Given the description of an element on the screen output the (x, y) to click on. 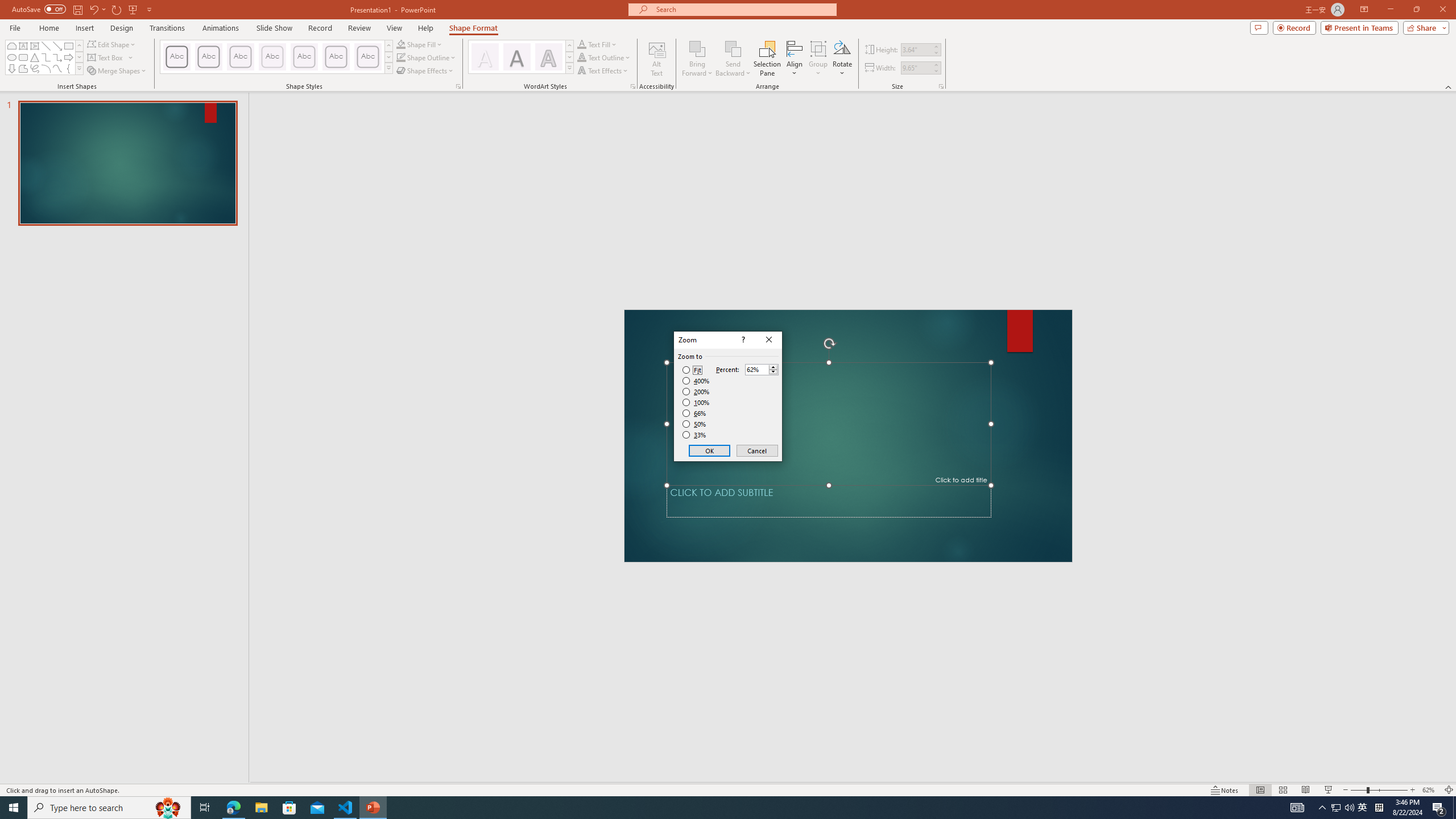
Selection Pane... (767, 58)
Merge Shapes (117, 69)
Edit Shape (112, 44)
Rotate (841, 58)
Subtitle TextBox (828, 500)
